Given the description of an element on the screen output the (x, y) to click on. 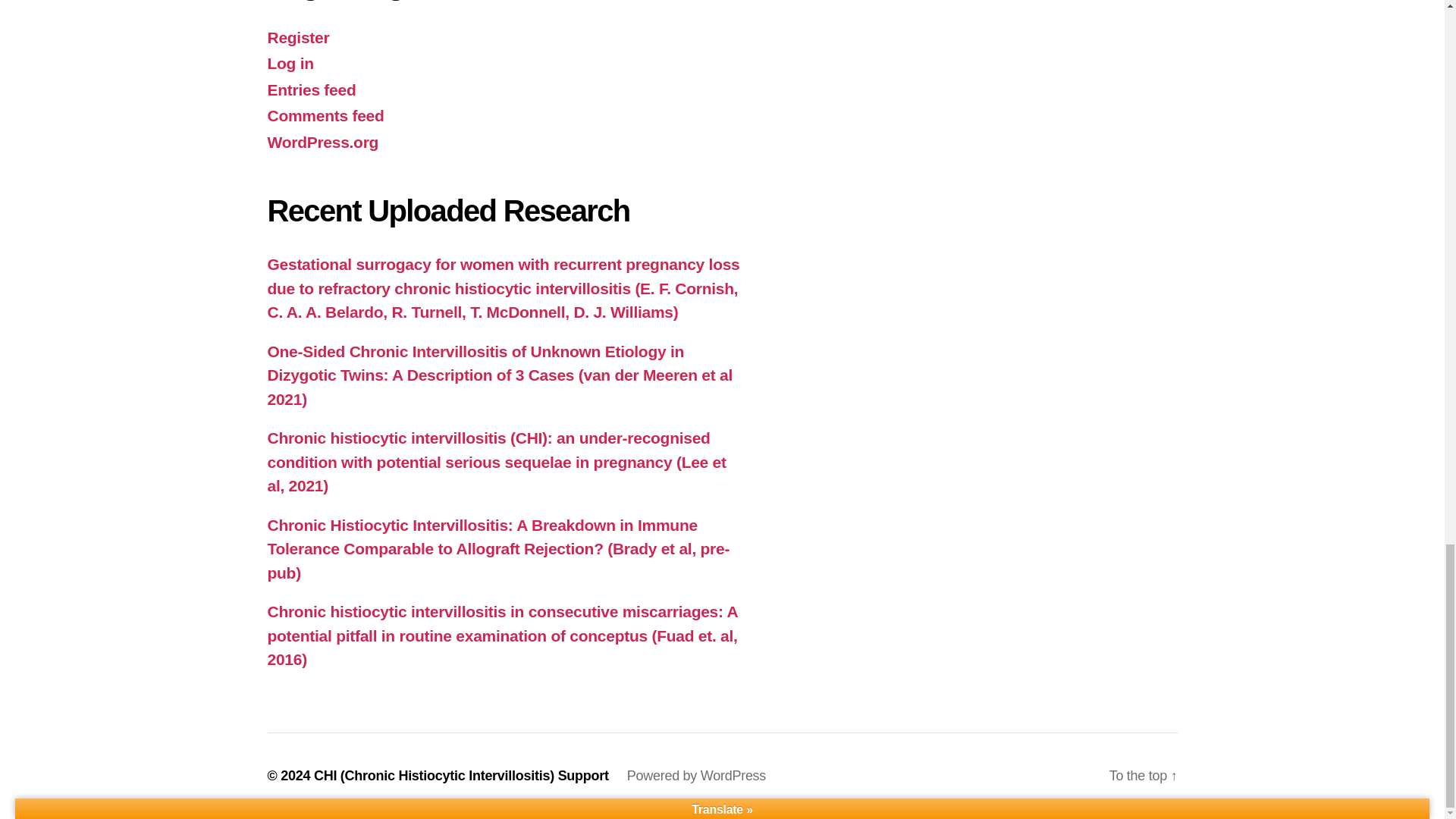
Entries feed (310, 89)
Comments feed (325, 115)
Register (297, 36)
Powered by WordPress (696, 775)
WordPress.org (322, 141)
Log in (289, 63)
